Given the description of an element on the screen output the (x, y) to click on. 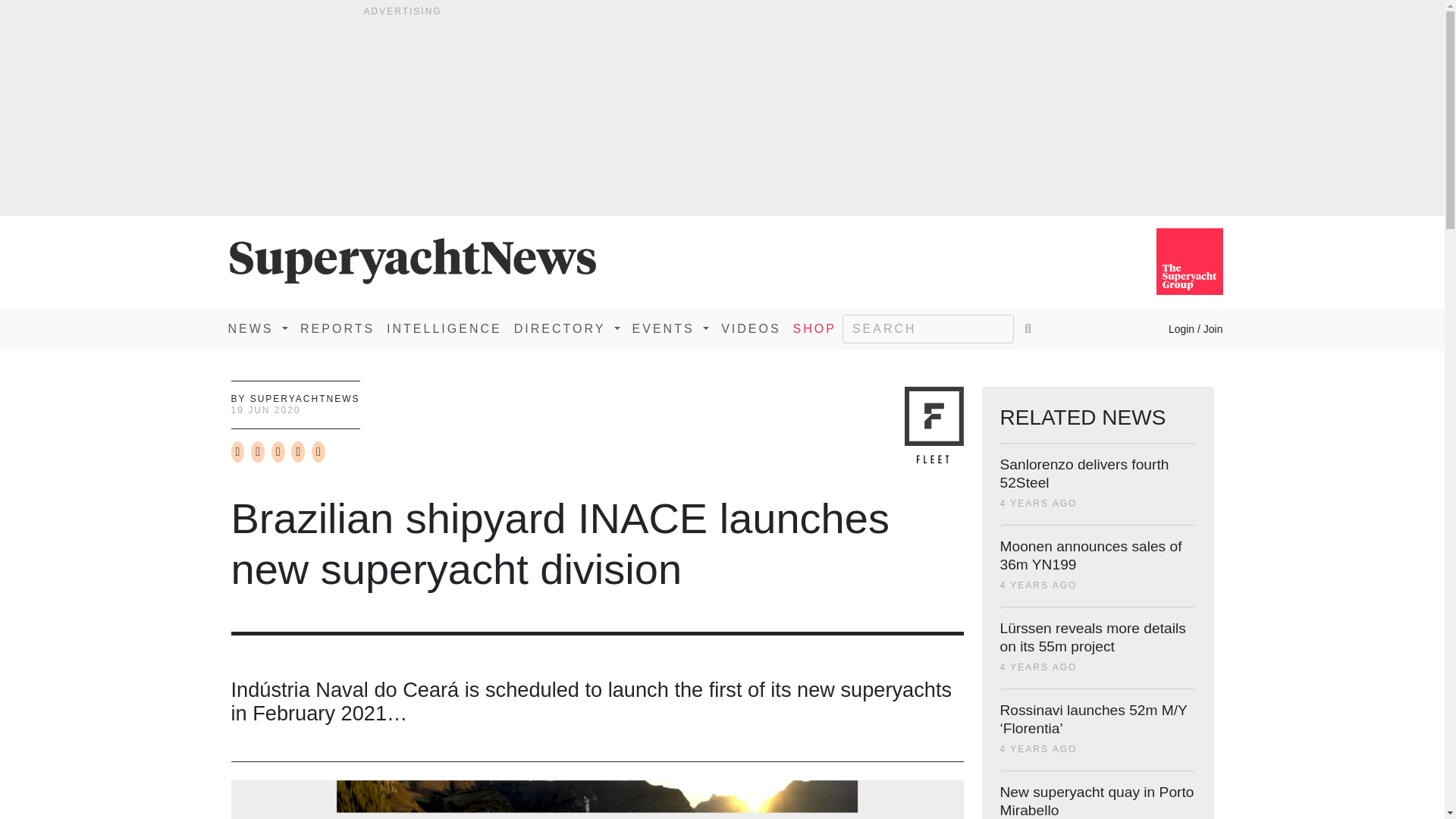
Sanlorenzo delivers fourth 52Steel (1083, 473)
INTELLIGENCE (444, 328)
VIDEOS (750, 328)
SHOP (815, 328)
REPORTS (337, 328)
NEWS (257, 328)
DIRECTORY (567, 328)
EVENTS (671, 328)
